Given the description of an element on the screen output the (x, y) to click on. 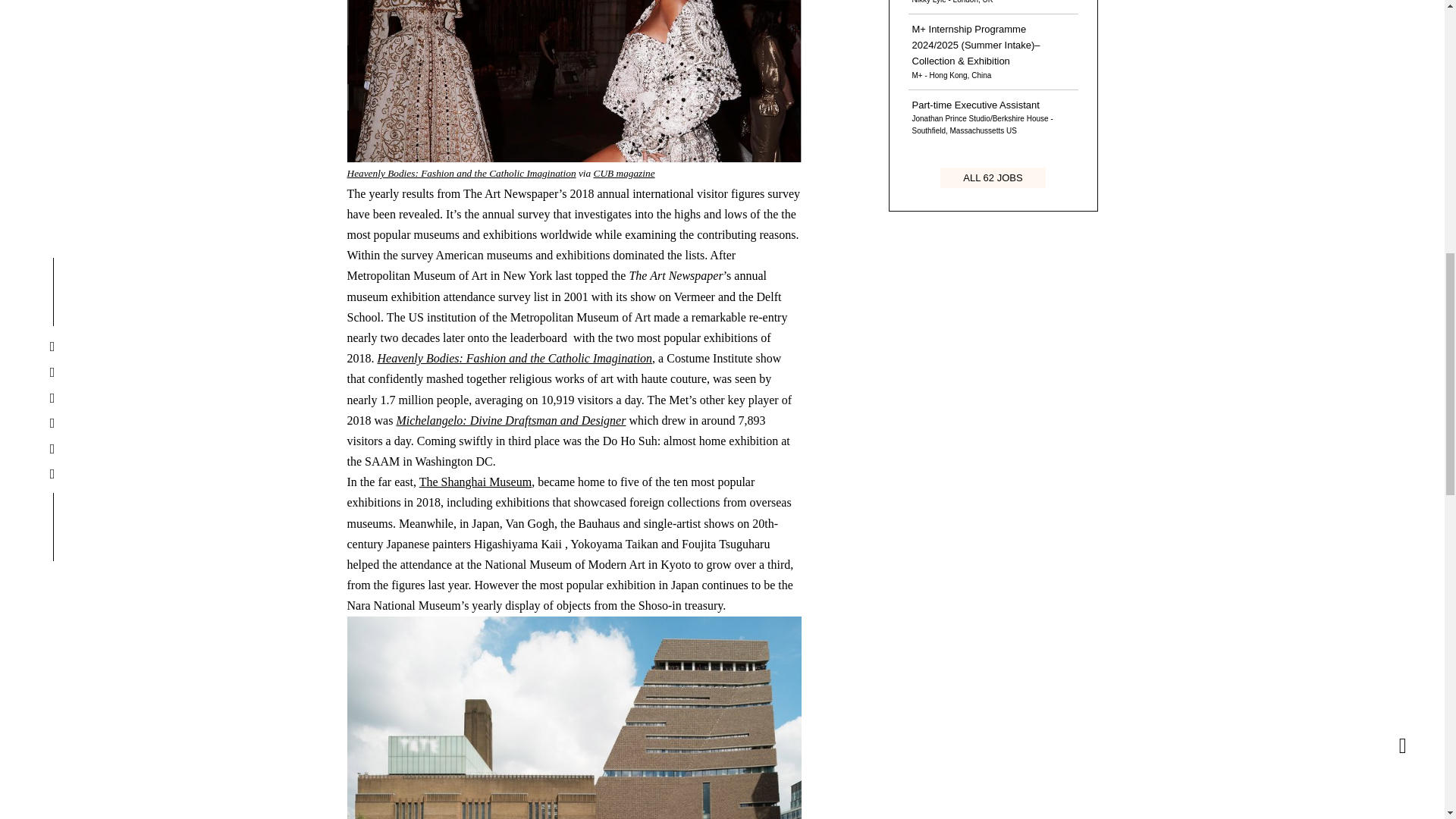
CUB magazine (624, 173)
Heavenly Bodies: Fashion and the Catholic Imagination, (516, 358)
Heavenly Bodies: Fashion and the Catholic Imagination (461, 173)
The Shanghai Museum (475, 481)
Michelangelo: Divine Draftsman and Designer (511, 420)
